Given the description of an element on the screen output the (x, y) to click on. 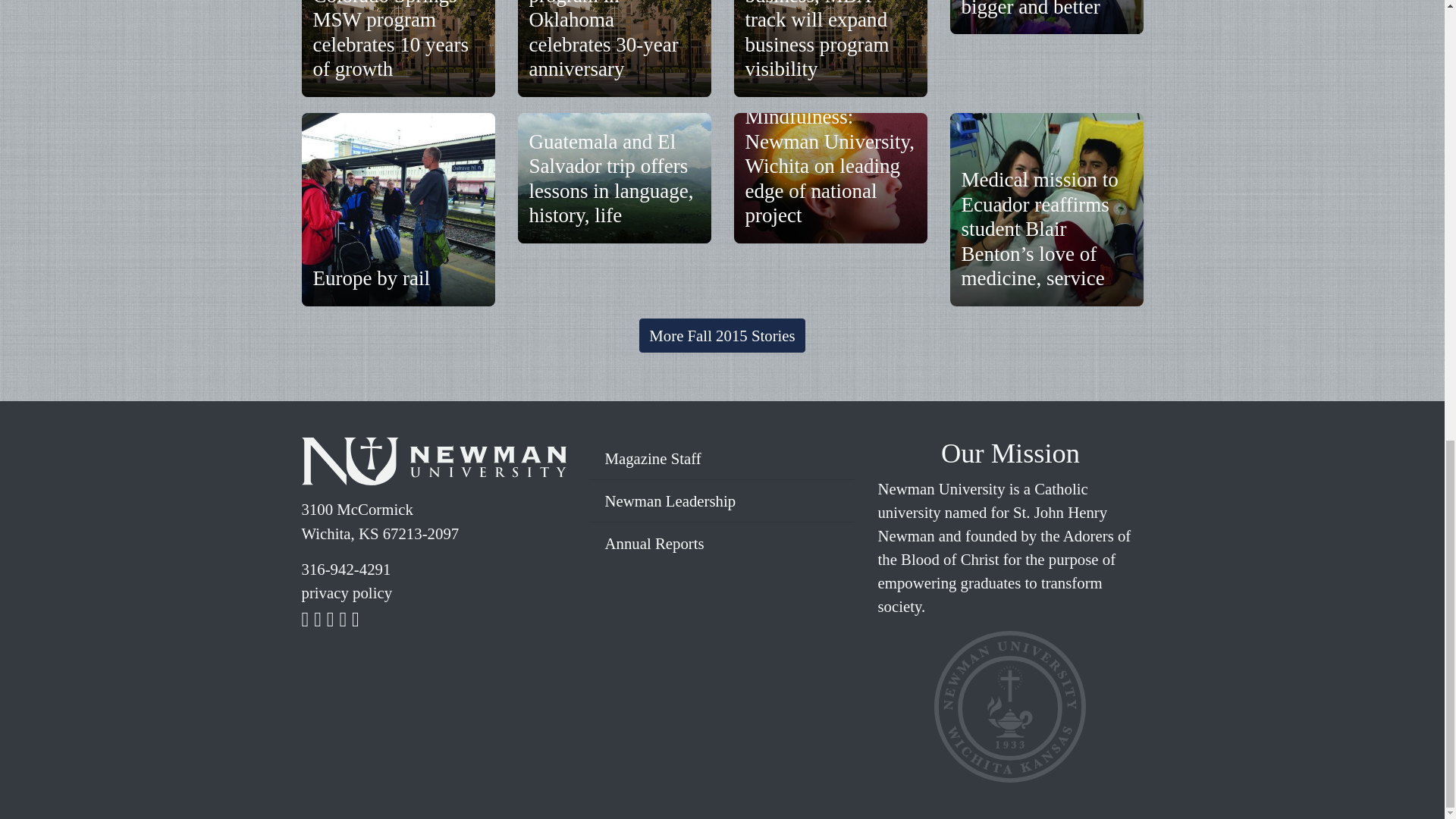
Europe by rail (371, 277)
Newman University (434, 465)
Colorado Springs MSW program celebrates 10 years of growth (390, 40)
